Given the description of an element on the screen output the (x, y) to click on. 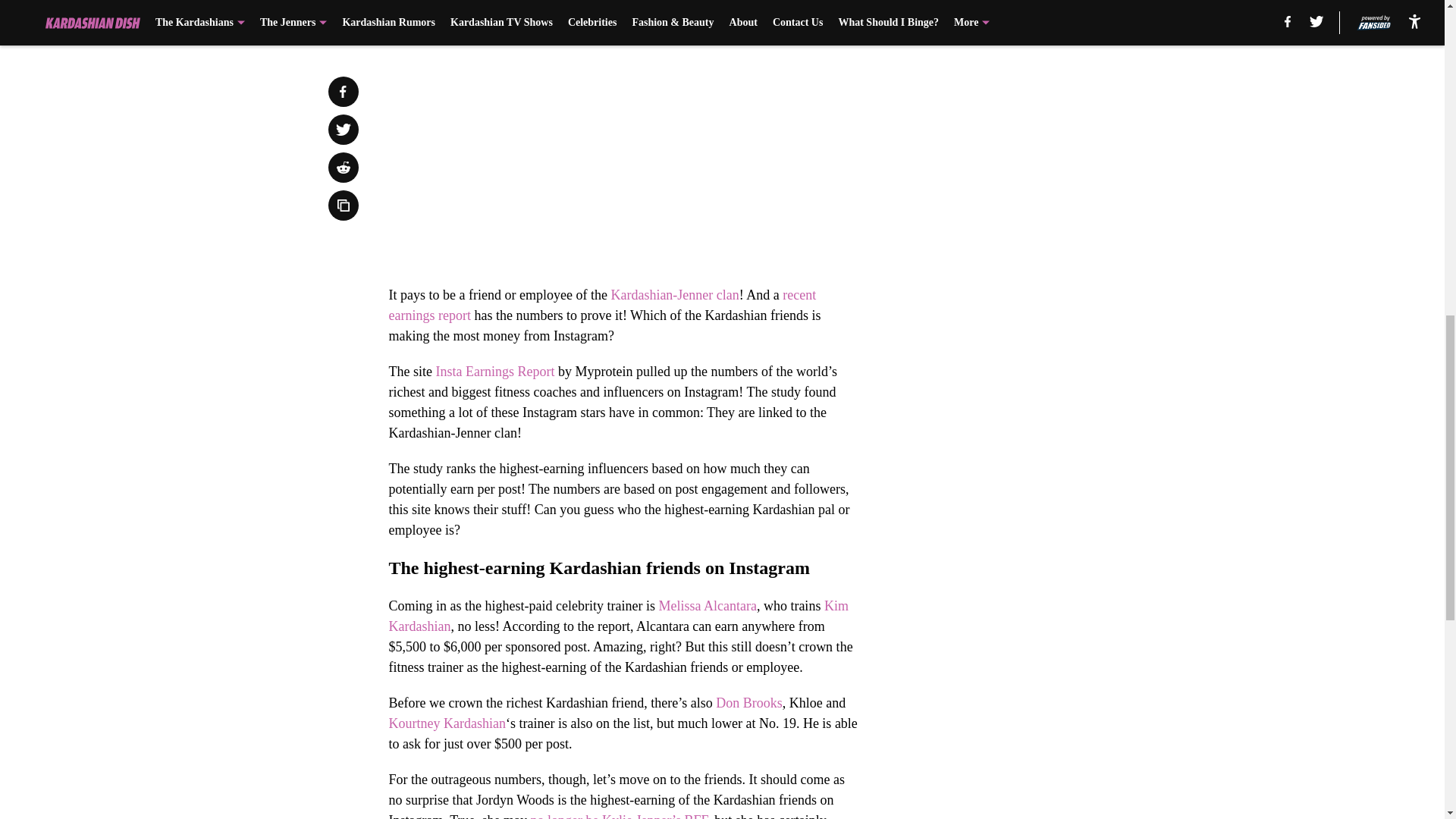
Kim Kardashian (617, 615)
Melissa Alcantara (706, 605)
Kardashian-Jenner clan (674, 294)
Don Brooks (749, 702)
recent earnings report (601, 304)
Kourtney Kardashian (446, 723)
 Insta Earnings Report (493, 371)
